Given the description of an element on the screen output the (x, y) to click on. 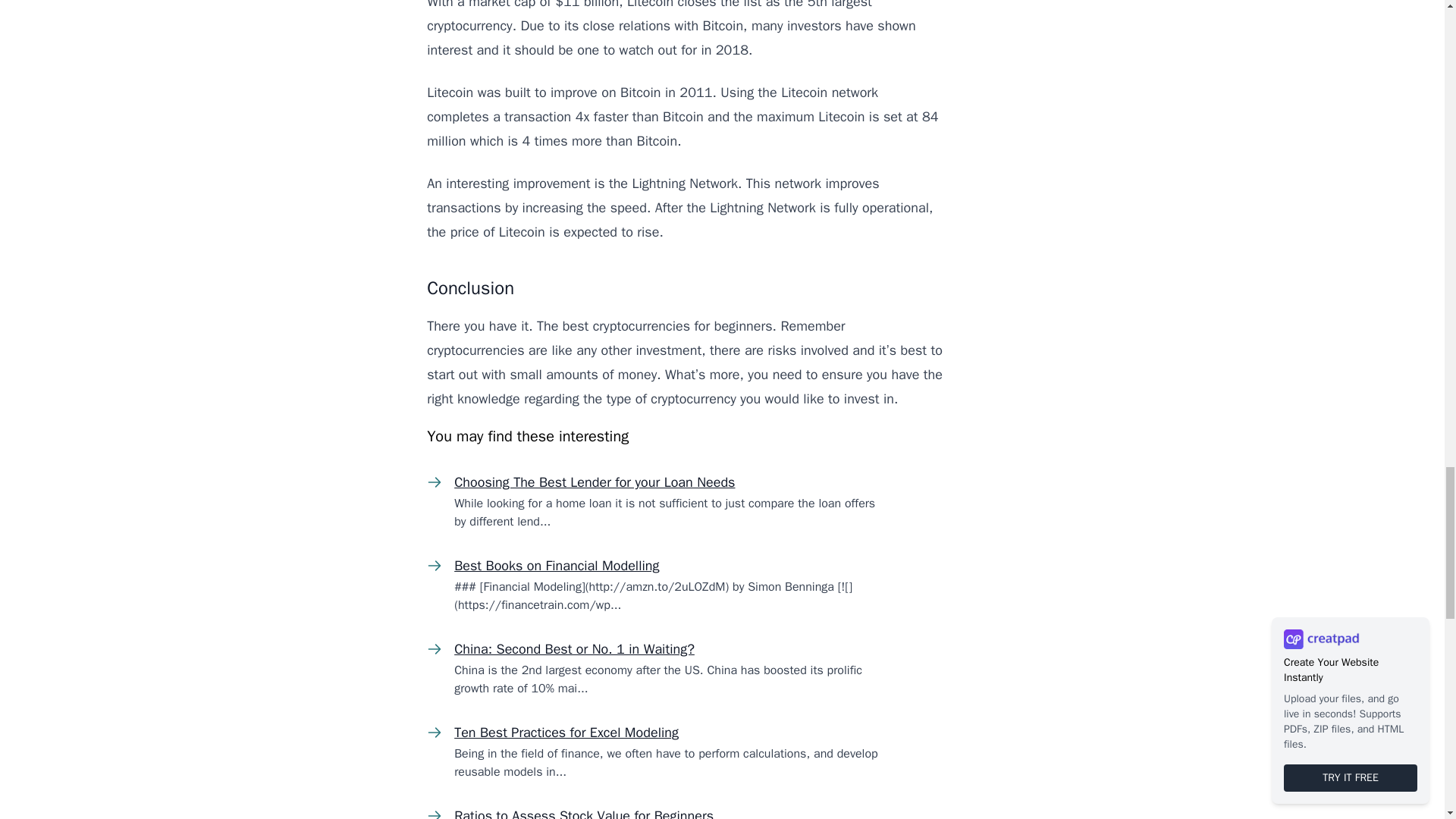
China: Second Best or No. 1 in Waiting? (574, 648)
Choosing The Best Lender for your Loan Needs (594, 482)
Ratios to Assess Stock Value for Beginners (583, 813)
Ten Best Practices for Excel Modeling (566, 732)
Best Books on Financial Modelling (556, 565)
